Given the description of an element on the screen output the (x, y) to click on. 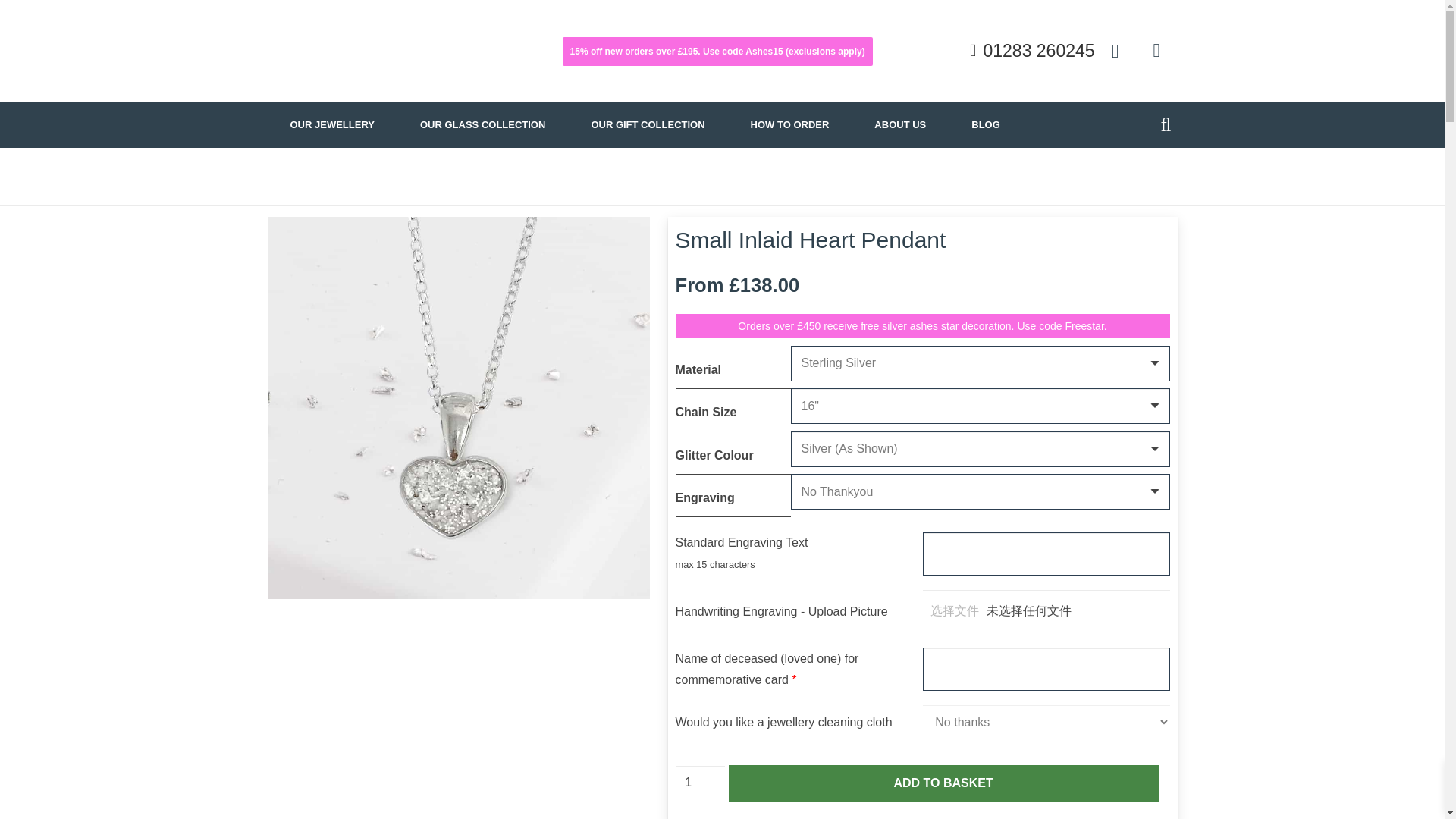
HOW TO ORDER (789, 124)
OUR GIFT COLLECTION (646, 124)
1 (700, 782)
OUR GLASS COLLECTION (482, 124)
OUR JEWELLERY (331, 124)
BLOG (986, 124)
ABOUT US (900, 124)
